Given the description of an element on the screen output the (x, y) to click on. 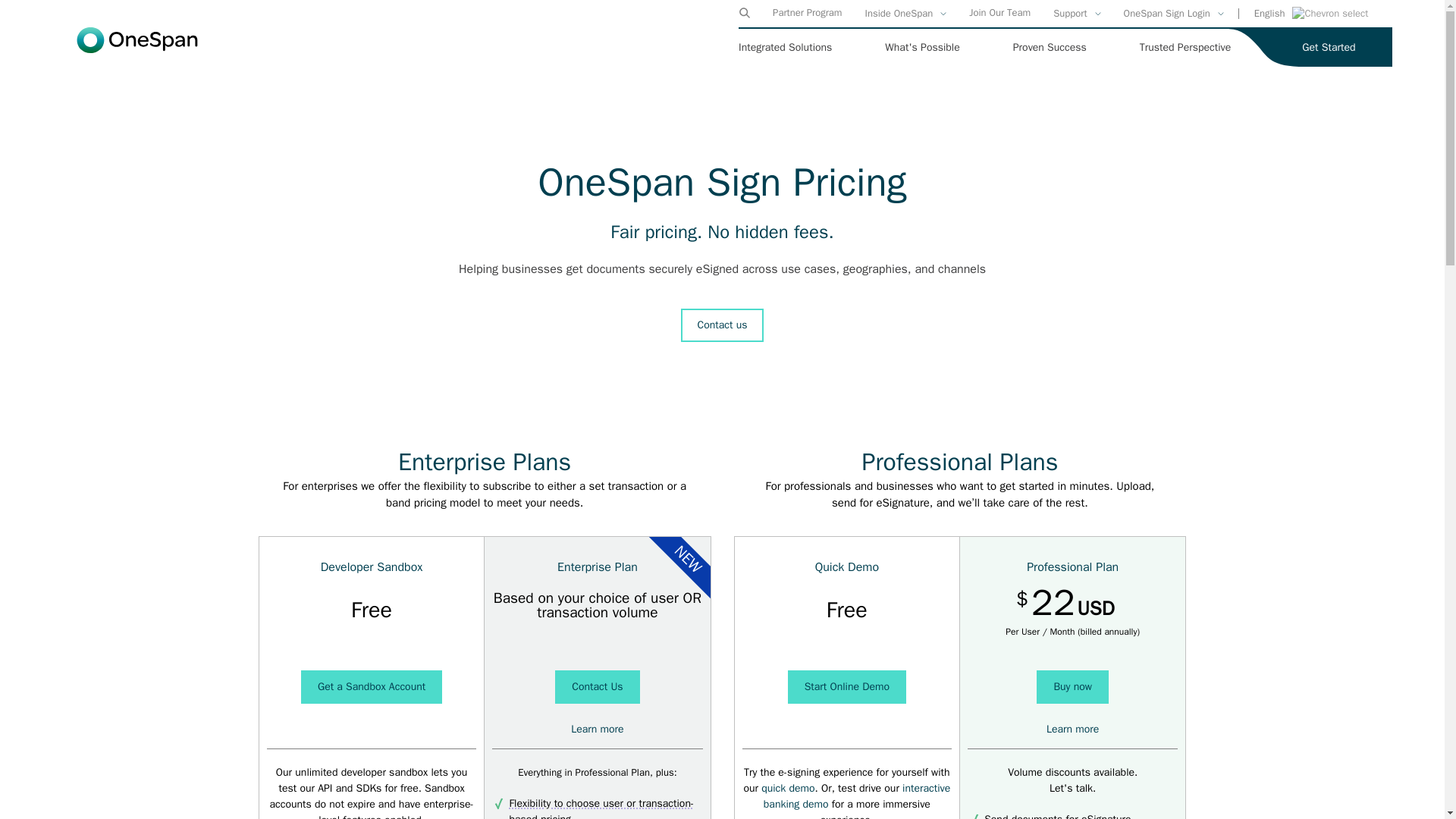
Partner Program (807, 11)
E-signatures Professional Plan (1072, 728)
Integrated Solutions (784, 47)
Quick Demo (787, 788)
OneSpan Sign Enterprise Plan Electronic Signatures (596, 728)
Join Our Team (999, 11)
